Given the description of an element on the screen output the (x, y) to click on. 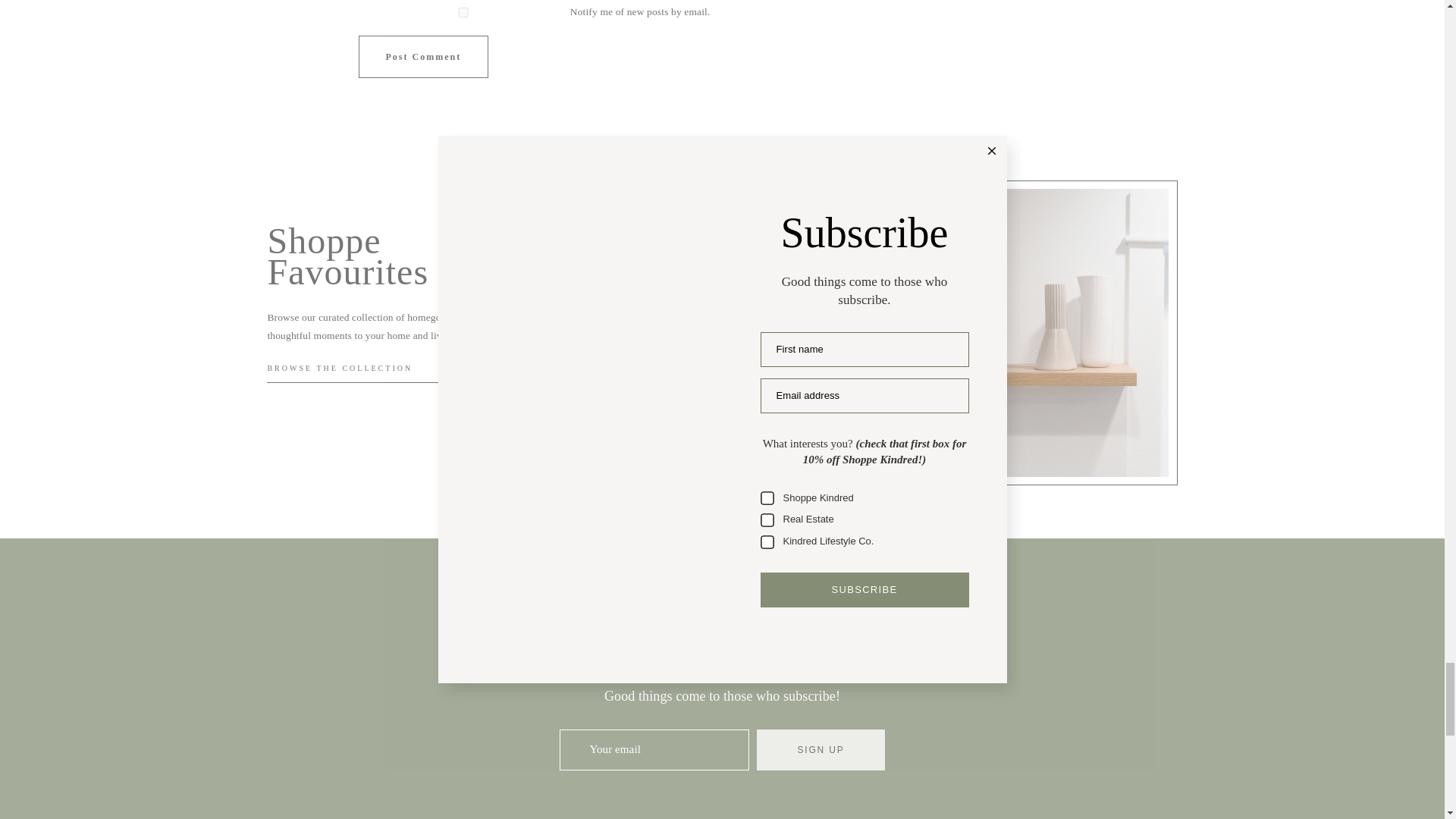
0U3A6655 (879, 329)
Post Comment (422, 56)
BROWSE THE COLLECTION (339, 367)
SIGN UP (821, 749)
subscribe (462, 12)
0U3A6622 (684, 329)
Post Comment (422, 56)
home-decor-shop-vancouver-island (1073, 332)
